Given the description of an element on the screen output the (x, y) to click on. 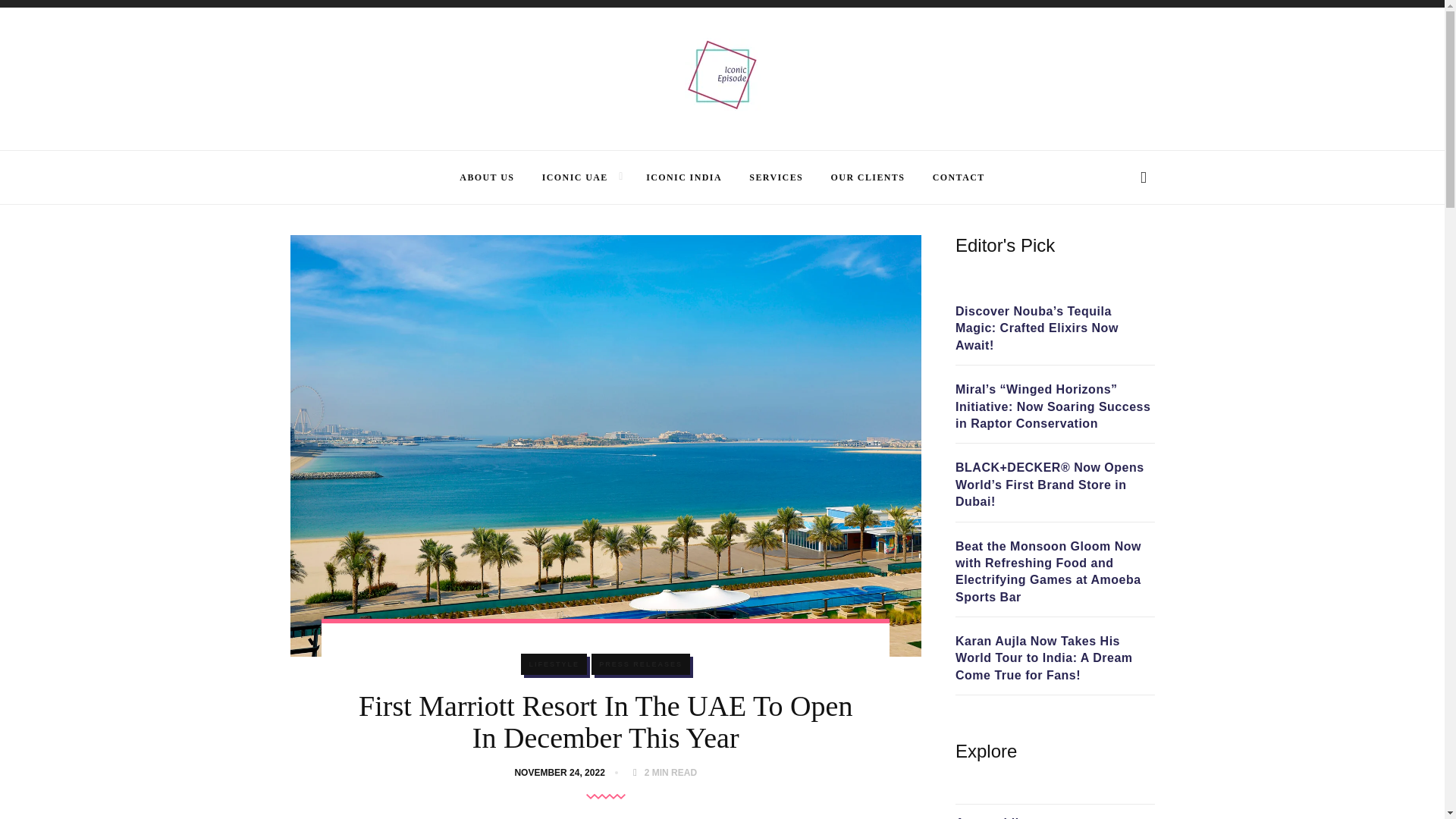
ICONIC INDIA (684, 176)
OUR CLIENTS (868, 176)
ICONIC UAE (574, 176)
NOVEMBER 24, 2022 (561, 772)
CONTACT (959, 176)
Automobile (990, 817)
LIFESTYLE (553, 663)
SERVICES (776, 176)
PRESS RELEASES (640, 663)
ABOUT US (486, 176)
